Given the description of an element on the screen output the (x, y) to click on. 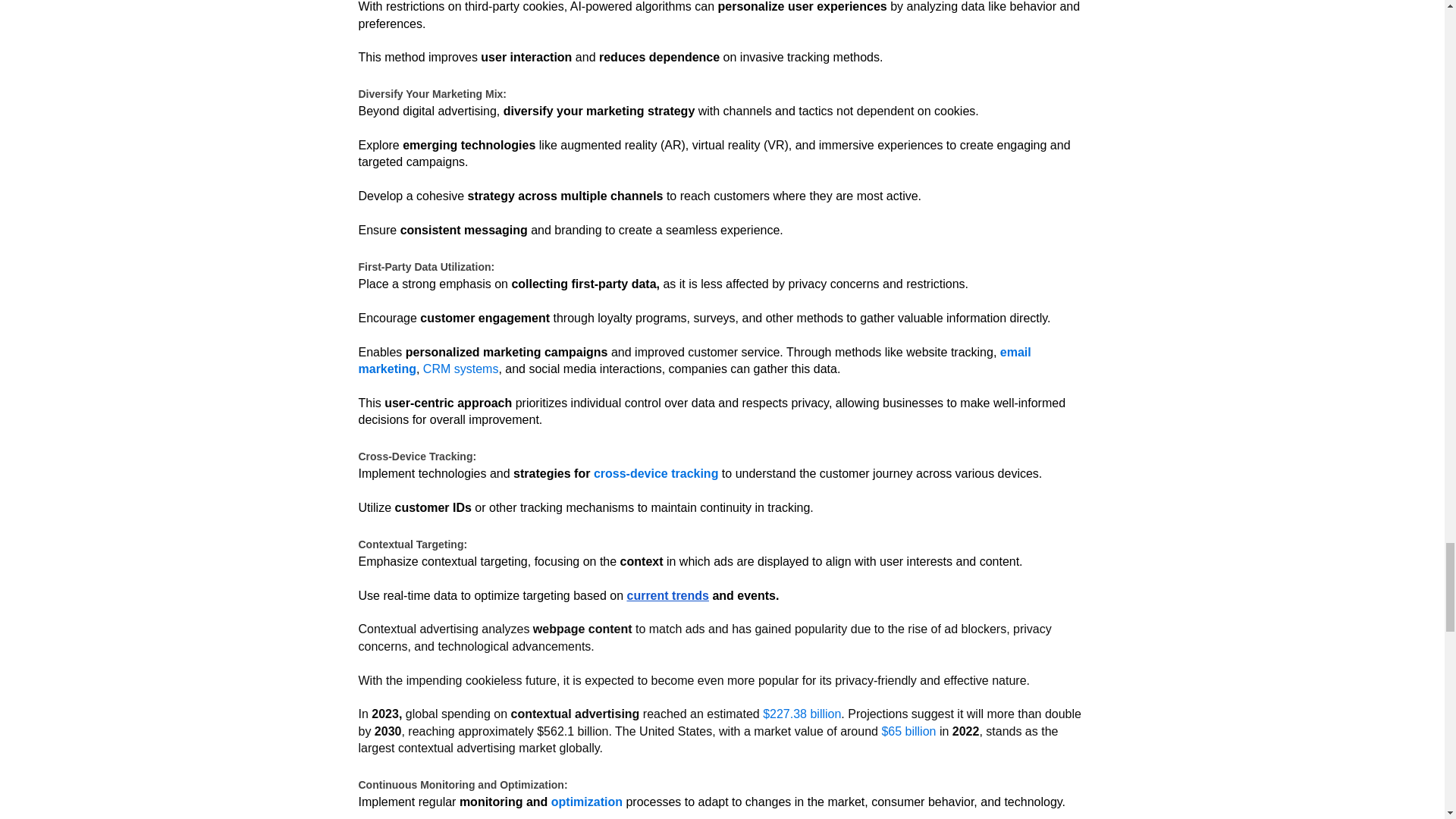
cross-device tracking (656, 472)
email marketing (694, 360)
current trends (666, 594)
CRM systems (461, 368)
optimization (587, 801)
